Given the description of an element on the screen output the (x, y) to click on. 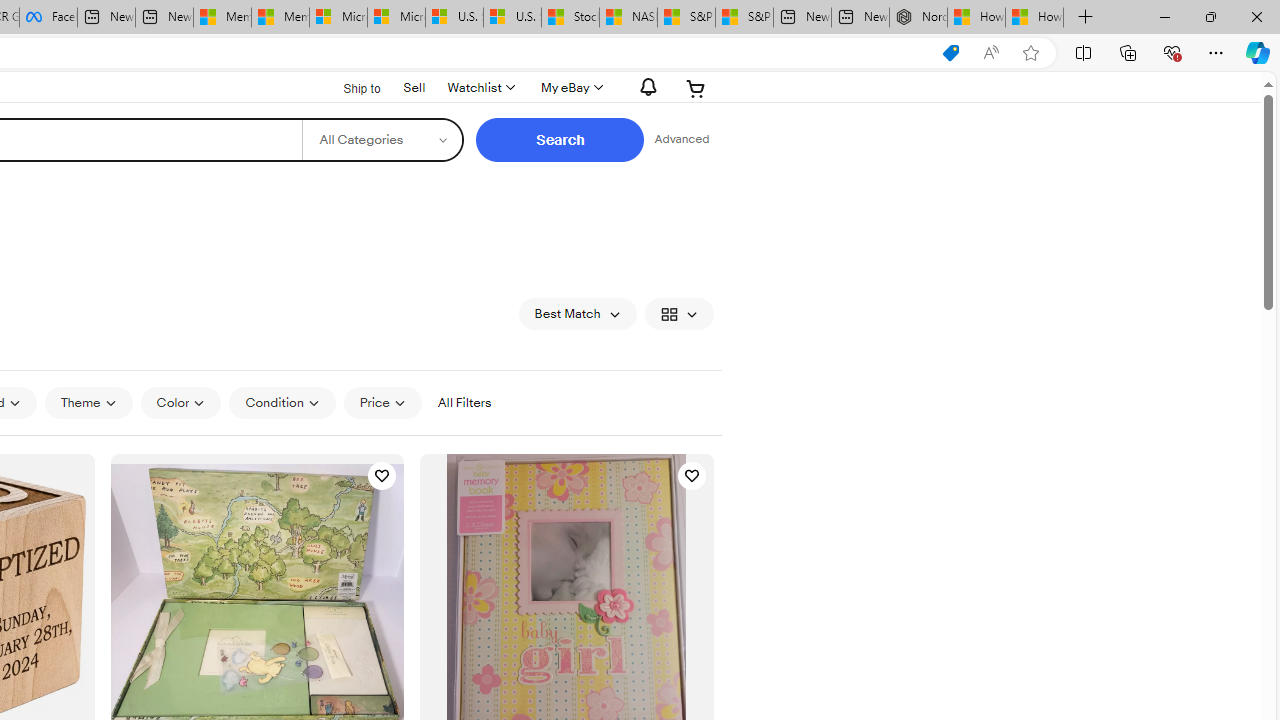
Expand Cart (696, 88)
Theme (88, 402)
Sell (414, 87)
Theme (88, 403)
My eBay (569, 88)
My eBayExpand My eBay (569, 88)
Condition (282, 402)
